Given the description of an element on the screen output the (x, y) to click on. 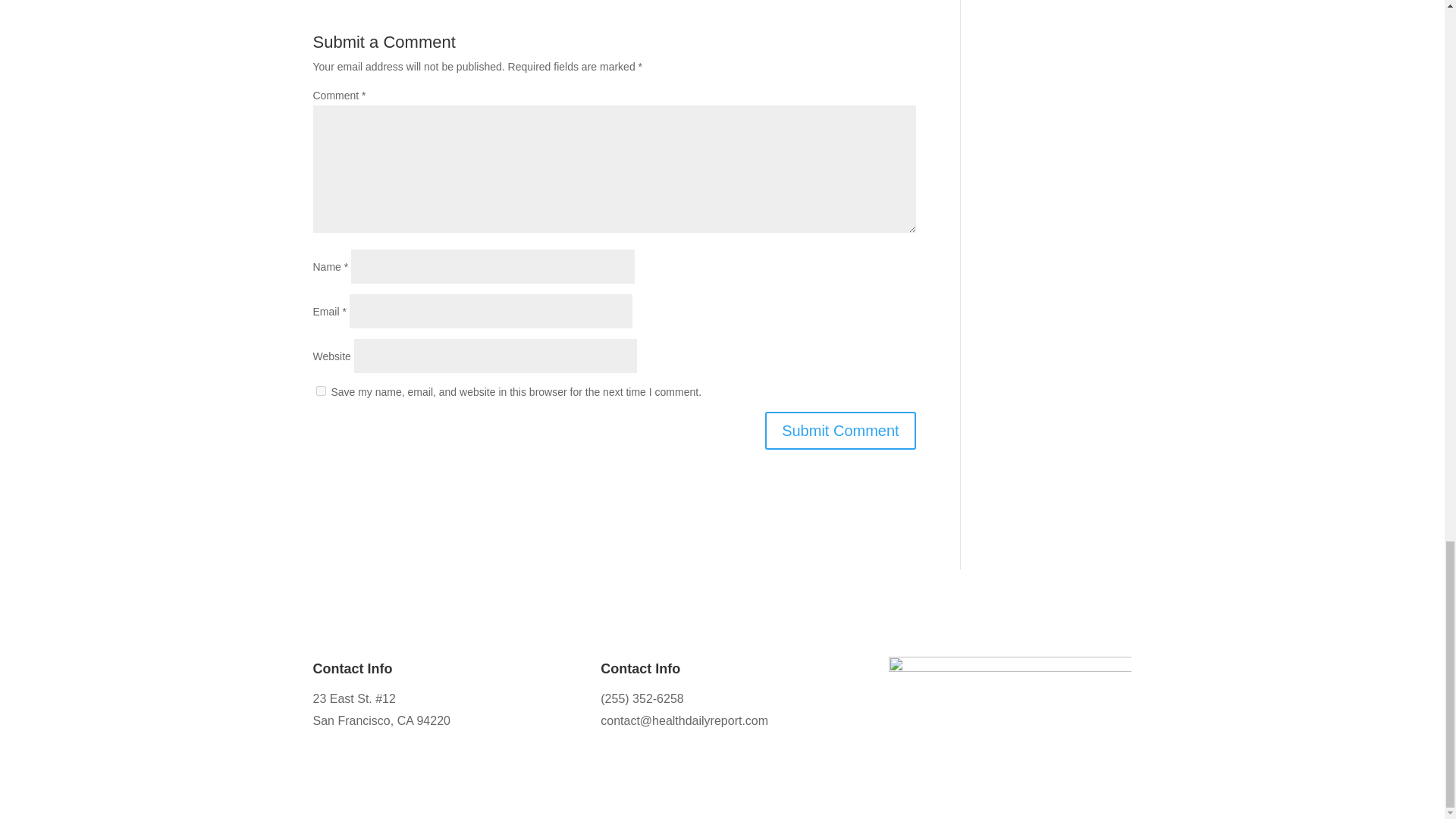
yes (319, 390)
Submit Comment (840, 430)
Submit Comment (840, 430)
